Given the description of an element on the screen output the (x, y) to click on. 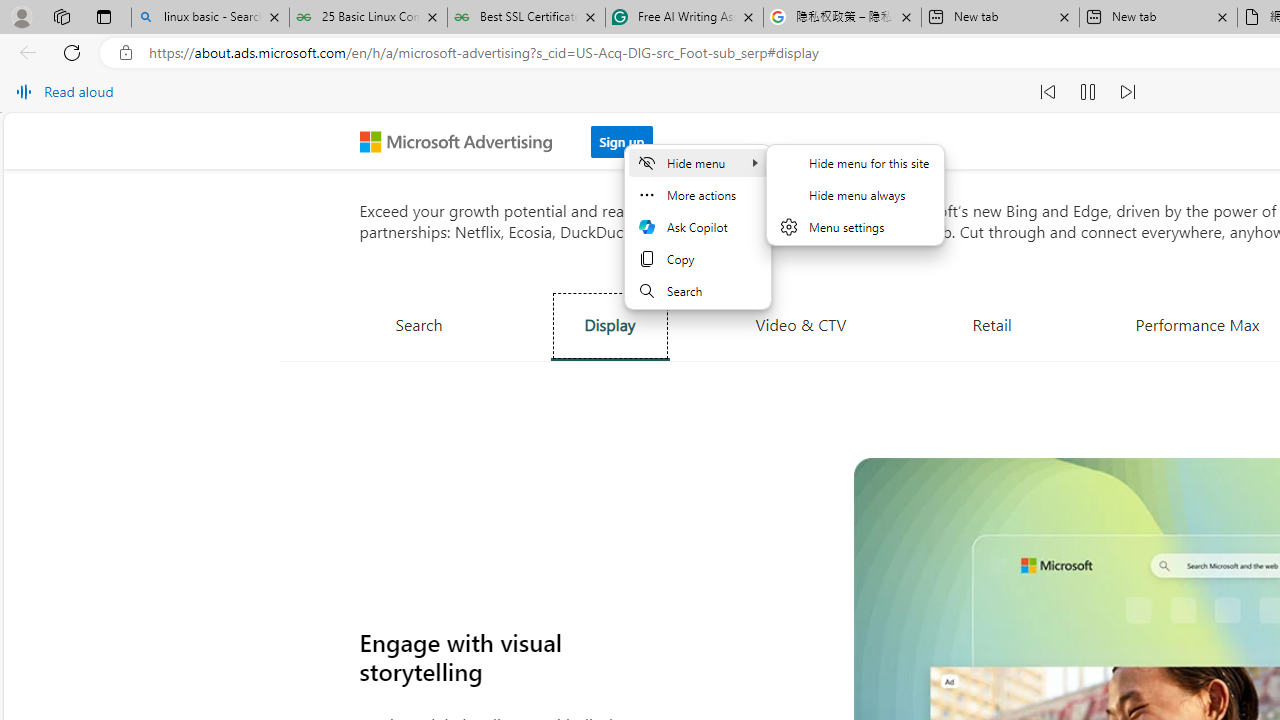
Read previous paragraph (1047, 92)
Display (609, 325)
Hide menu (855, 194)
